Given the description of an element on the screen output the (x, y) to click on. 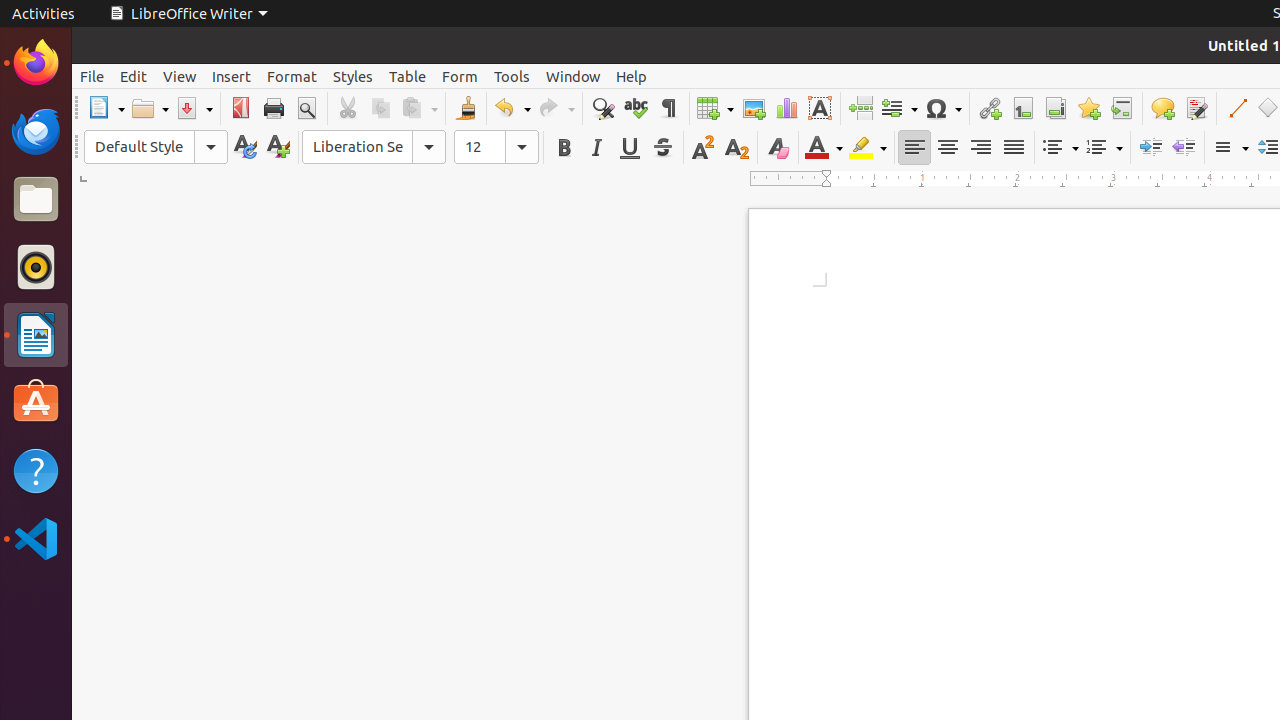
Spelling Element type: push-button (635, 108)
Chart Element type: push-button (786, 108)
Strikethrough Element type: toggle-button (662, 147)
Clone Element type: push-button (465, 108)
Redo Element type: push-button (556, 108)
